Given the description of an element on the screen output the (x, y) to click on. 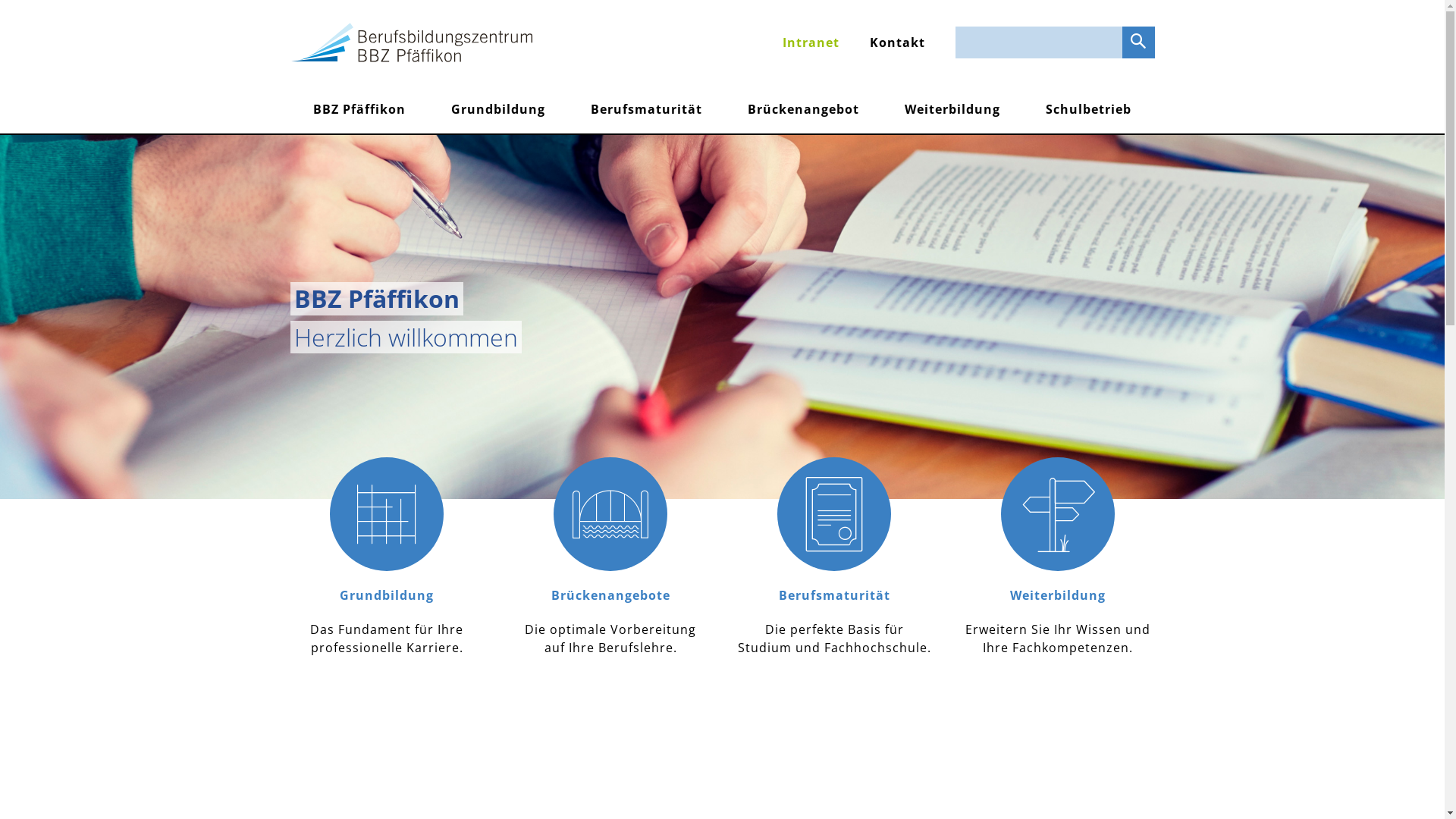
Kontakt Element type: text (896, 42)
Intranet Element type: text (810, 42)
Schulbetrieb Element type: text (1088, 108)
bbzp.header.search Element type: text (1138, 42)
Weiterbildung Element type: text (951, 108)
Grundbildung Element type: text (497, 108)
